Given the description of an element on the screen output the (x, y) to click on. 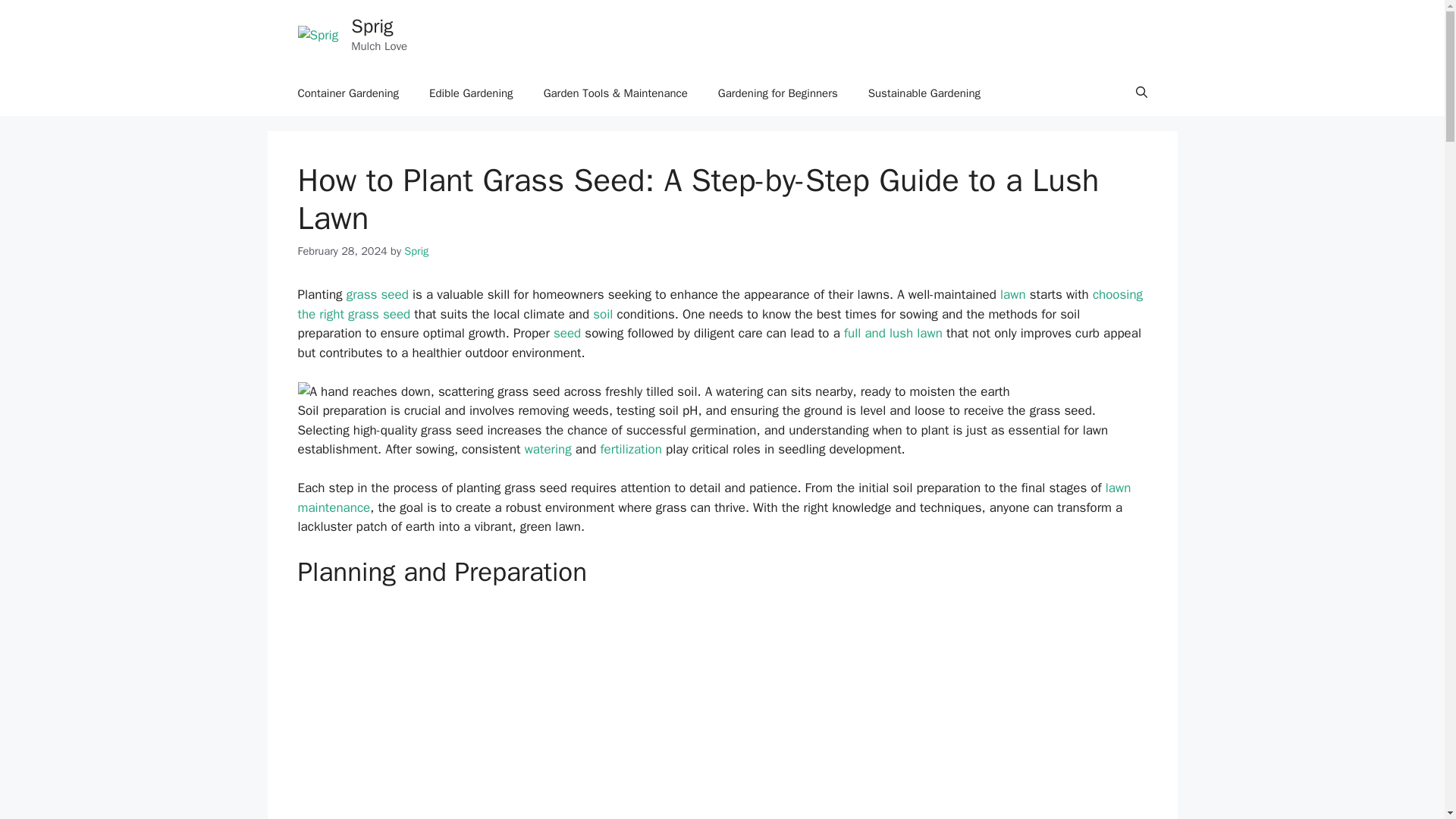
grass seed (377, 294)
watering (548, 449)
full and lush lawn (893, 333)
seed (566, 333)
lawn maintenance (714, 497)
Edible Gardening (470, 92)
View all posts by Sprig (416, 250)
lawn (1013, 294)
Sustainable Gardening (924, 92)
fertilization (630, 449)
